Given the description of an element on the screen output the (x, y) to click on. 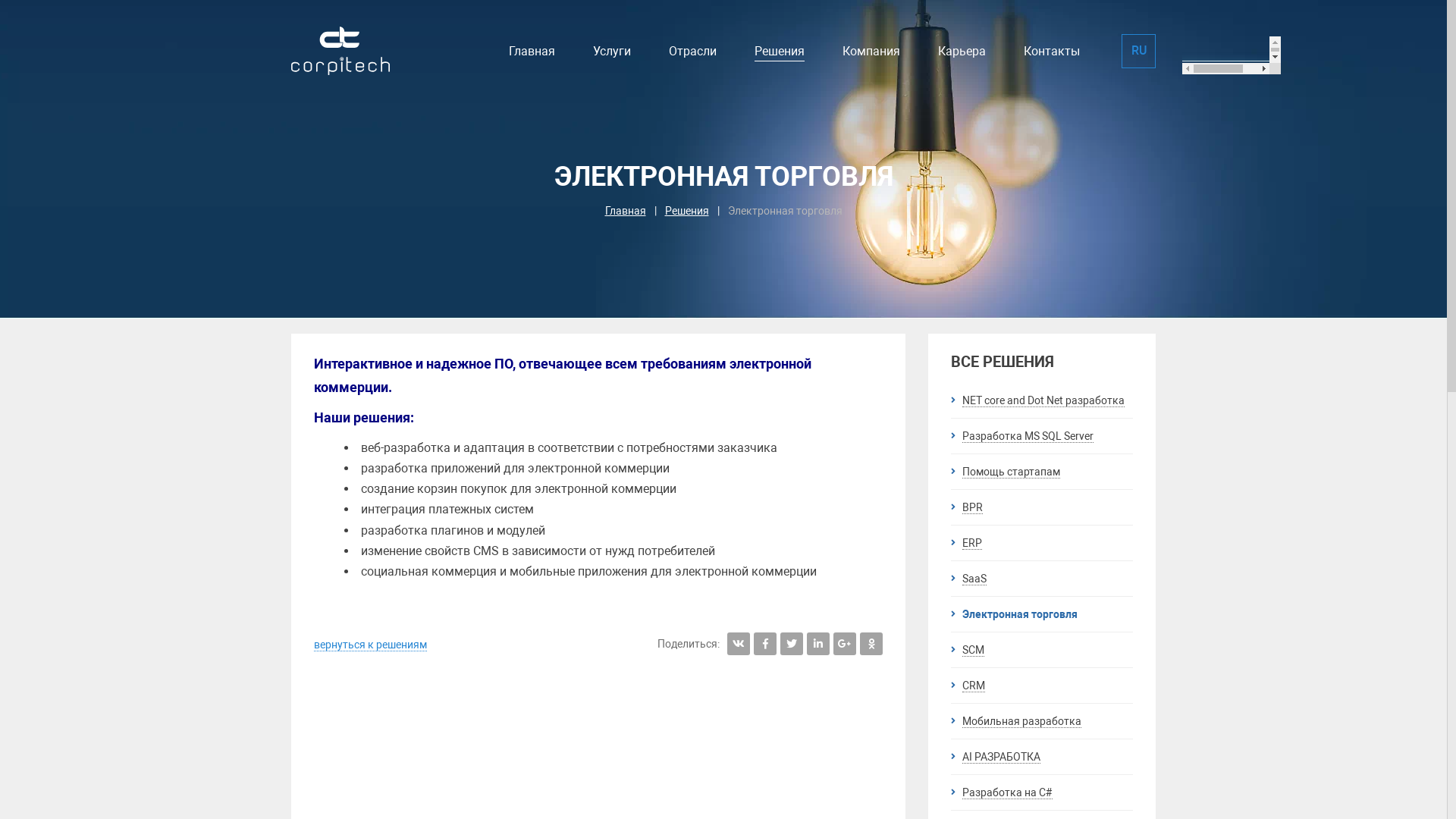
SaaS Element type: text (1041, 578)
__ym__promise_147143177_8949993511 Dark Element type: hover (1231, 55)
ERP Element type: text (1041, 542)
RU Element type: text (1138, 51)
BPR Element type: text (1041, 506)
SCM Element type: text (1041, 649)
CRM Element type: text (1041, 685)
